Given the description of an element on the screen output the (x, y) to click on. 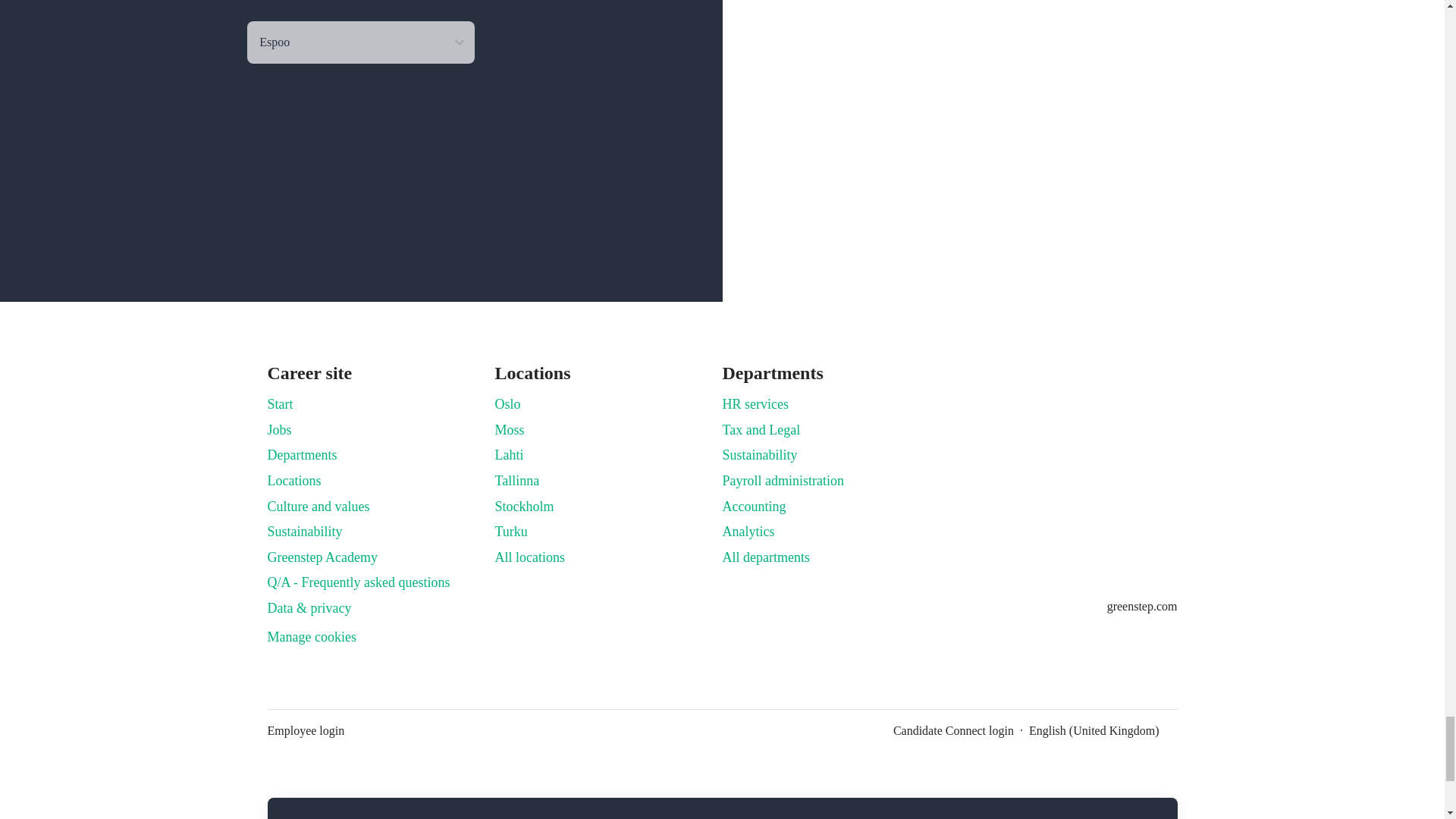
Change language (1103, 730)
Select location (360, 42)
Start (279, 403)
